Given the description of an element on the screen output the (x, y) to click on. 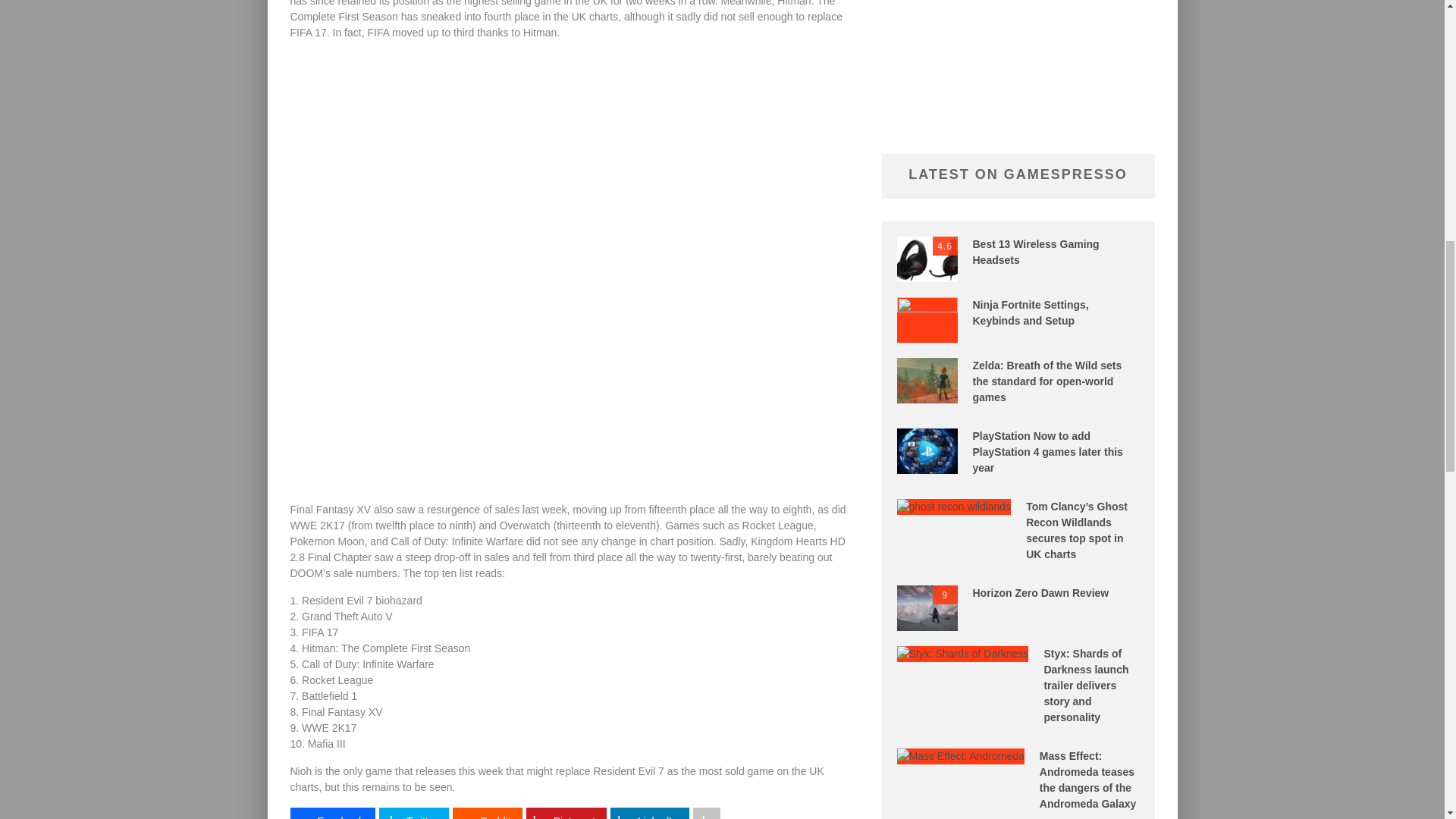
Share on More Button (706, 813)
Share on Twitter (413, 813)
Share on LinkedIn (649, 813)
Share on Facebook (331, 813)
Share on Pinterest (566, 813)
Share on Reddit (486, 813)
